Given the description of an element on the screen output the (x, y) to click on. 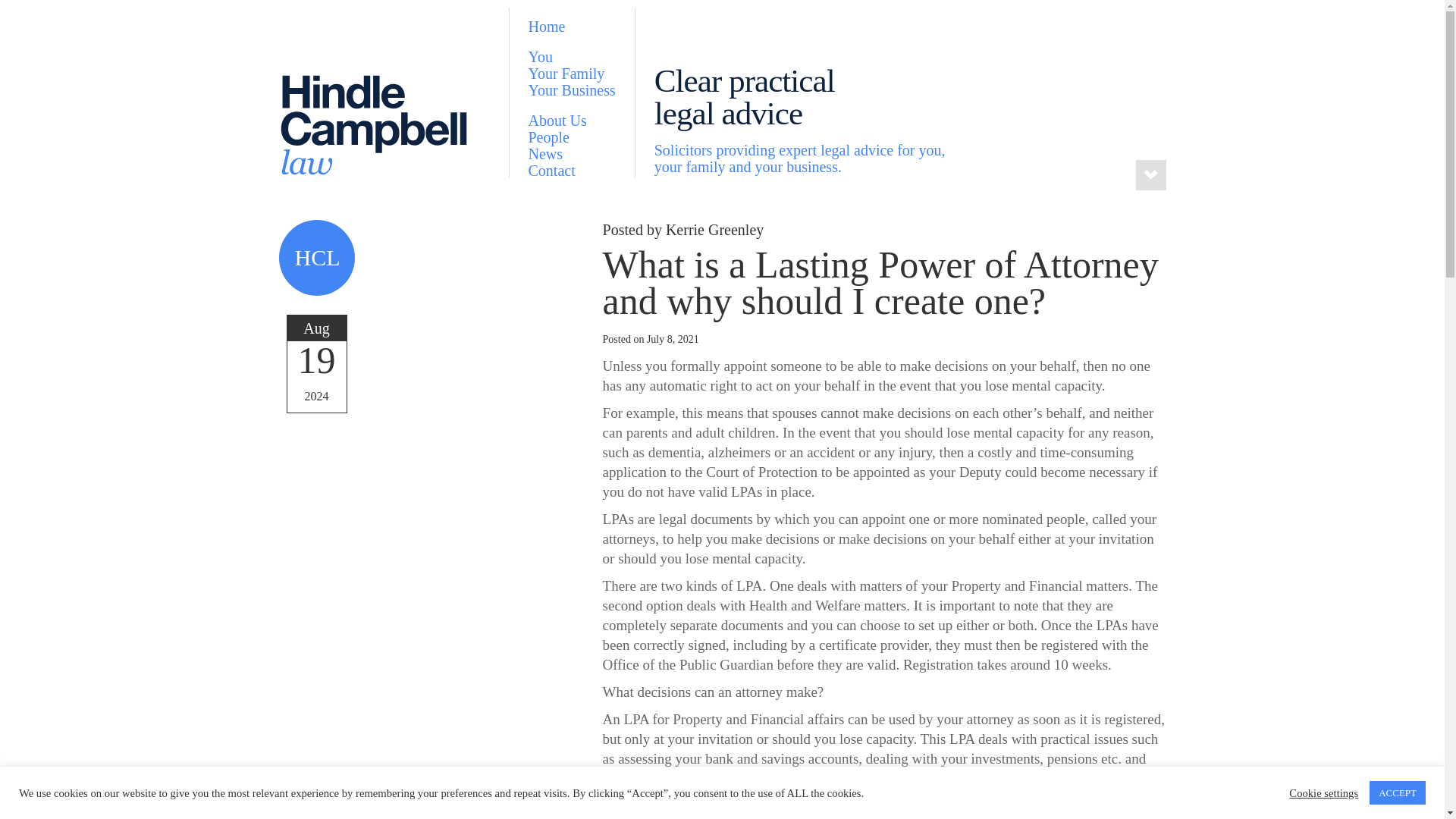
Home (570, 26)
People (570, 136)
Your Family (570, 73)
News (570, 153)
About Us (570, 120)
You (570, 56)
Contact (570, 170)
Your Business (570, 89)
